Given the description of an element on the screen output the (x, y) to click on. 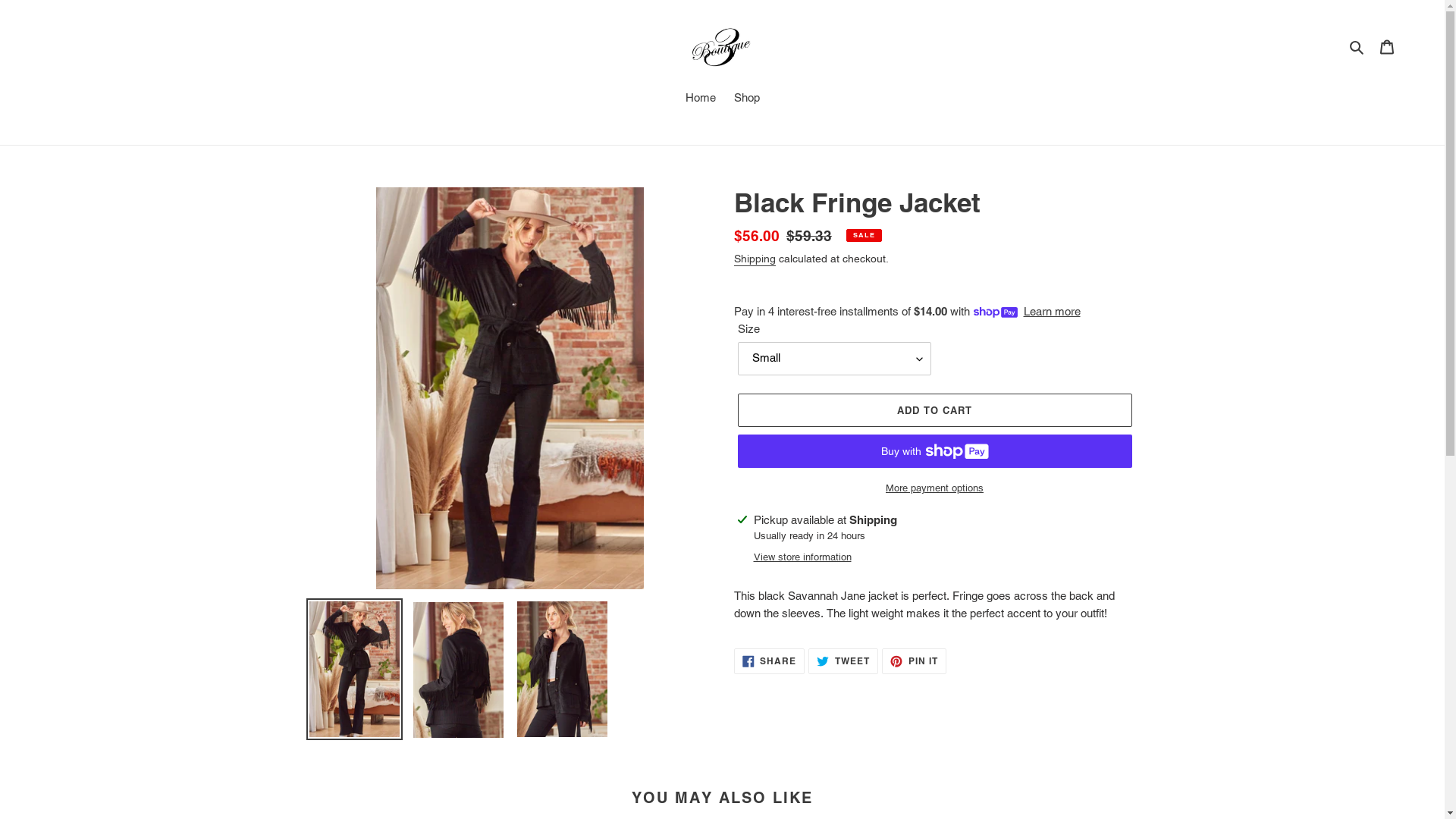
SHARE
SHARE ON FACEBOOK Element type: text (769, 661)
Shop Element type: text (746, 99)
More payment options Element type: text (934, 488)
Shipping Element type: text (754, 259)
Cart Element type: text (1386, 46)
Search Element type: text (1357, 46)
Home Element type: text (700, 99)
ADD TO CART Element type: text (934, 409)
View store information Element type: text (802, 556)
PIN IT
PIN ON PINTEREST Element type: text (913, 661)
TWEET
TWEET ON TWITTER Element type: text (843, 661)
